Given the description of an element on the screen output the (x, y) to click on. 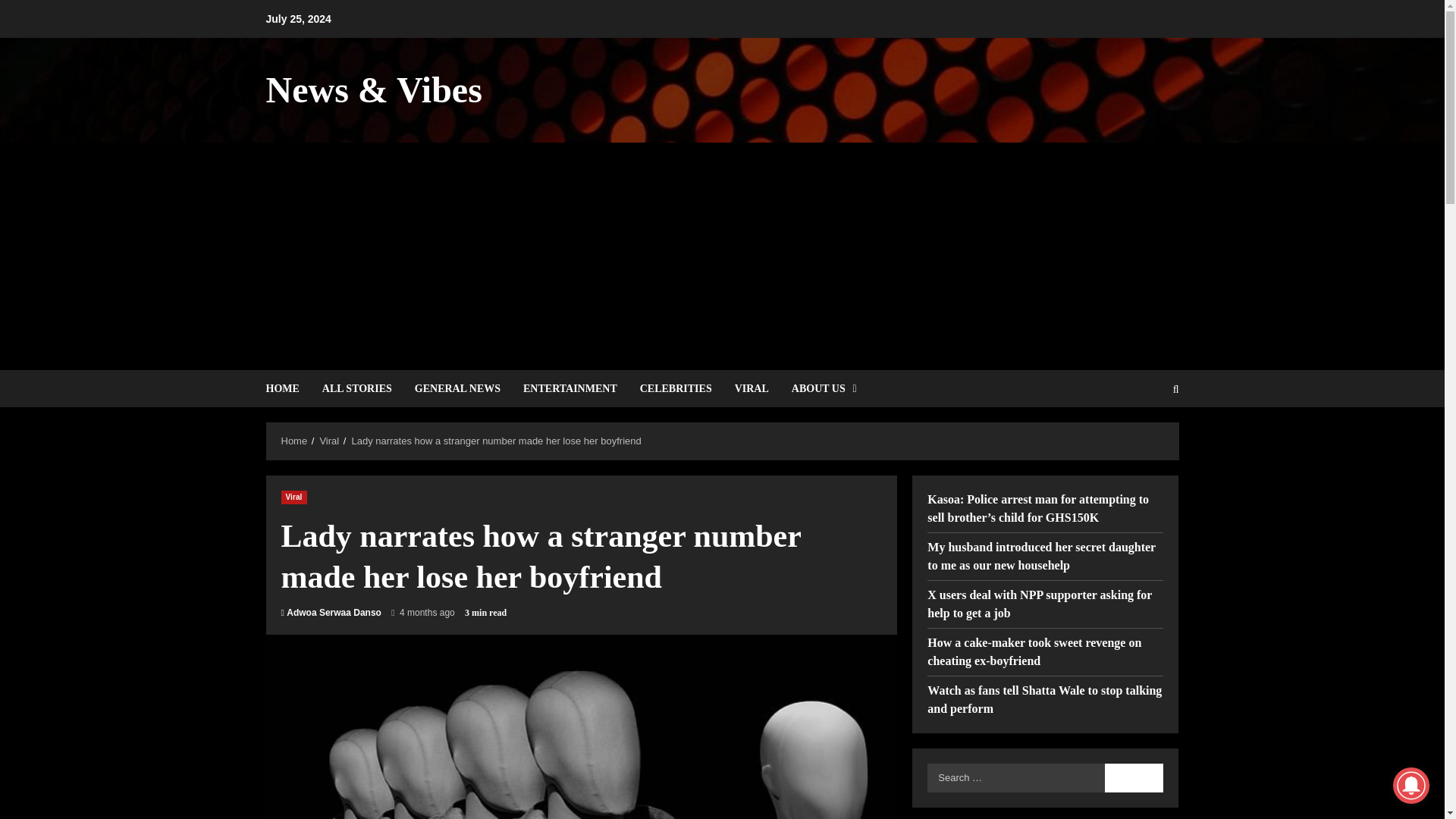
Adwoa Serwaa Danso (333, 612)
ENTERTAINMENT (570, 388)
ALL STORIES (357, 388)
Viral (293, 496)
GENERAL NEWS (457, 388)
Home (294, 440)
Viral (328, 440)
VIRAL (751, 388)
Search (1139, 440)
Search (1134, 776)
CELEBRITIES (675, 388)
HOME (287, 388)
